Given the description of an element on the screen output the (x, y) to click on. 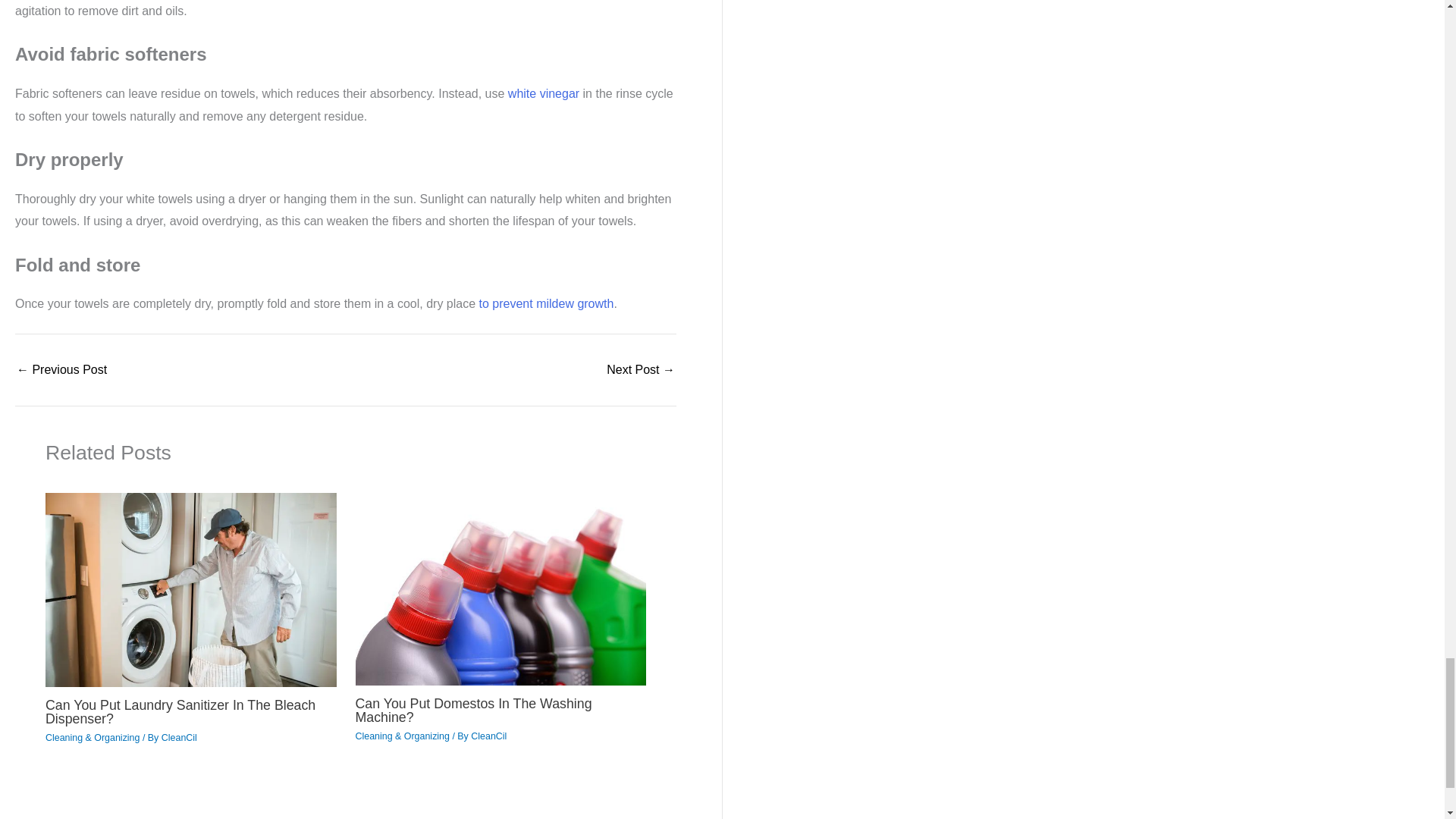
white vinegar (543, 92)
How To Use Zote Soap (641, 369)
CleanCil (178, 737)
View all posts by CleanCil (178, 737)
Can You Put Laundry Sanitizer In The Bleach Dispenser? (180, 711)
to prevent mildew growth (546, 303)
Can You Wash White And Black Socks Together? (61, 369)
View all posts by CleanCil (488, 736)
